Given the description of an element on the screen output the (x, y) to click on. 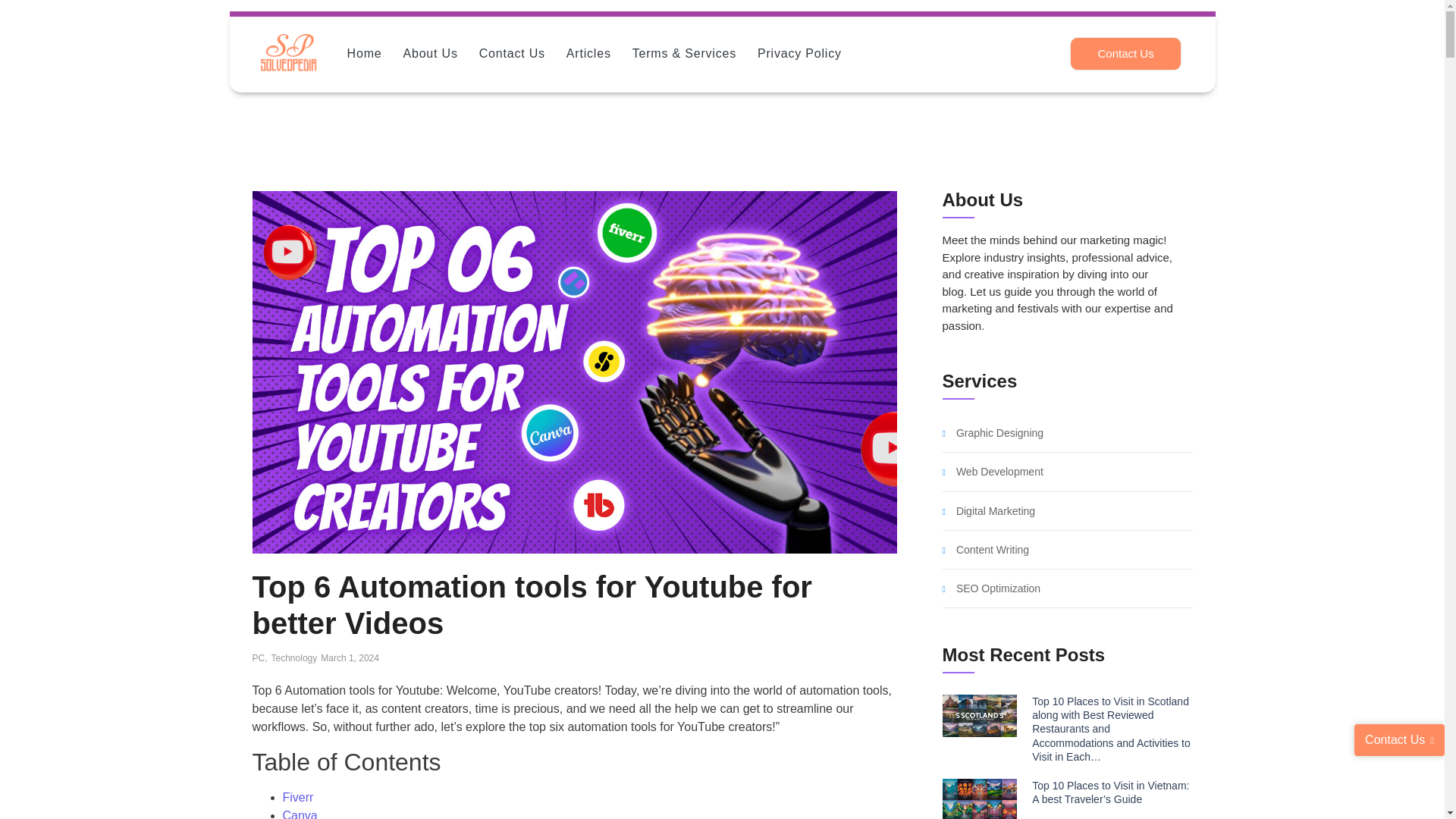
Privacy Policy (799, 54)
Digital Marketing (995, 510)
Canva (299, 814)
Content Writing (992, 550)
About Us (430, 54)
Contact Us (511, 54)
Articles (588, 54)
Fiverr (297, 797)
Web Development (999, 471)
Contact Us (1125, 53)
Graphic Designing (999, 433)
Home (364, 54)
SEO Optimization (998, 588)
